Given the description of an element on the screen output the (x, y) to click on. 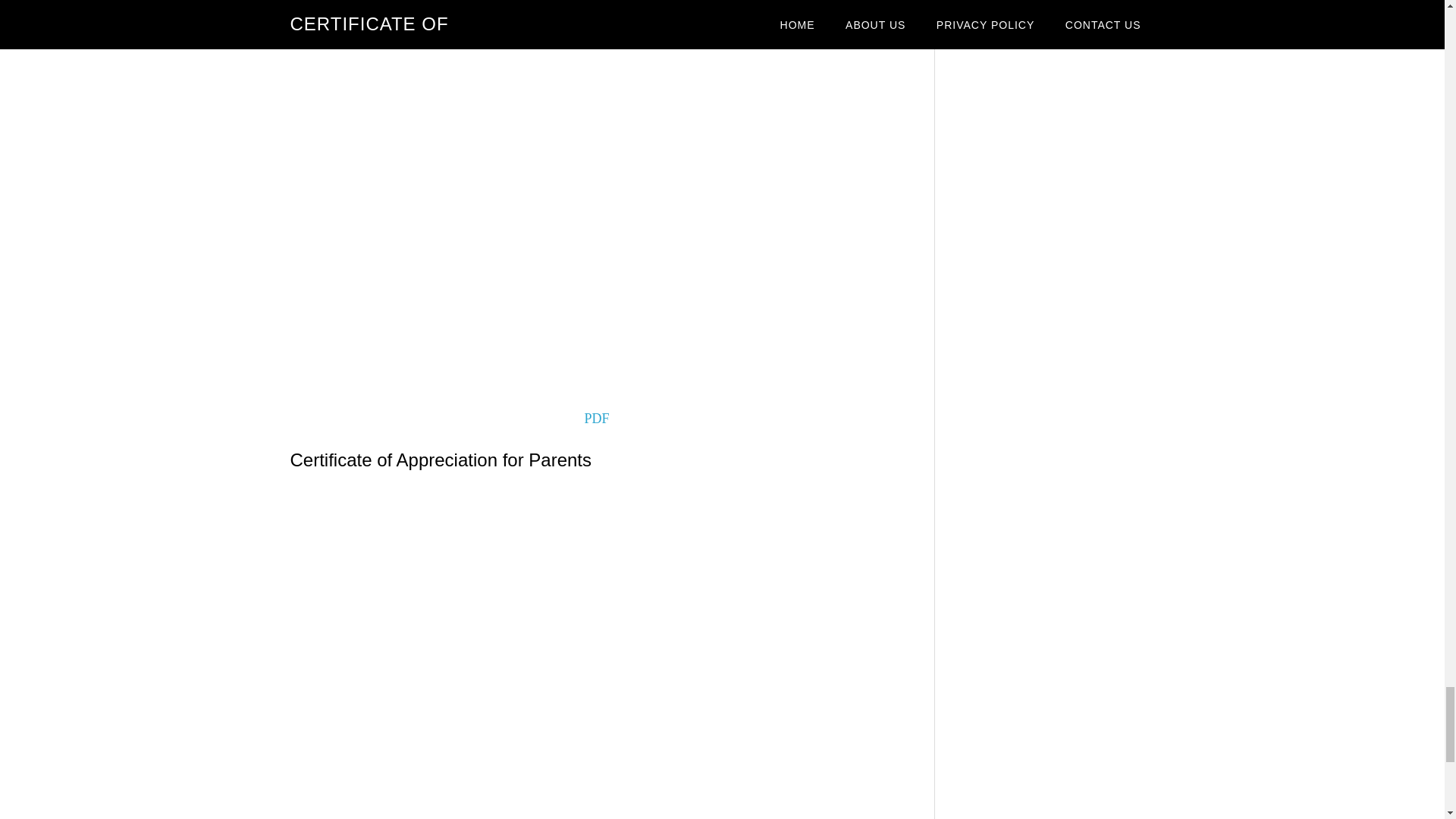
PDF (595, 418)
